Given the description of an element on the screen output the (x, y) to click on. 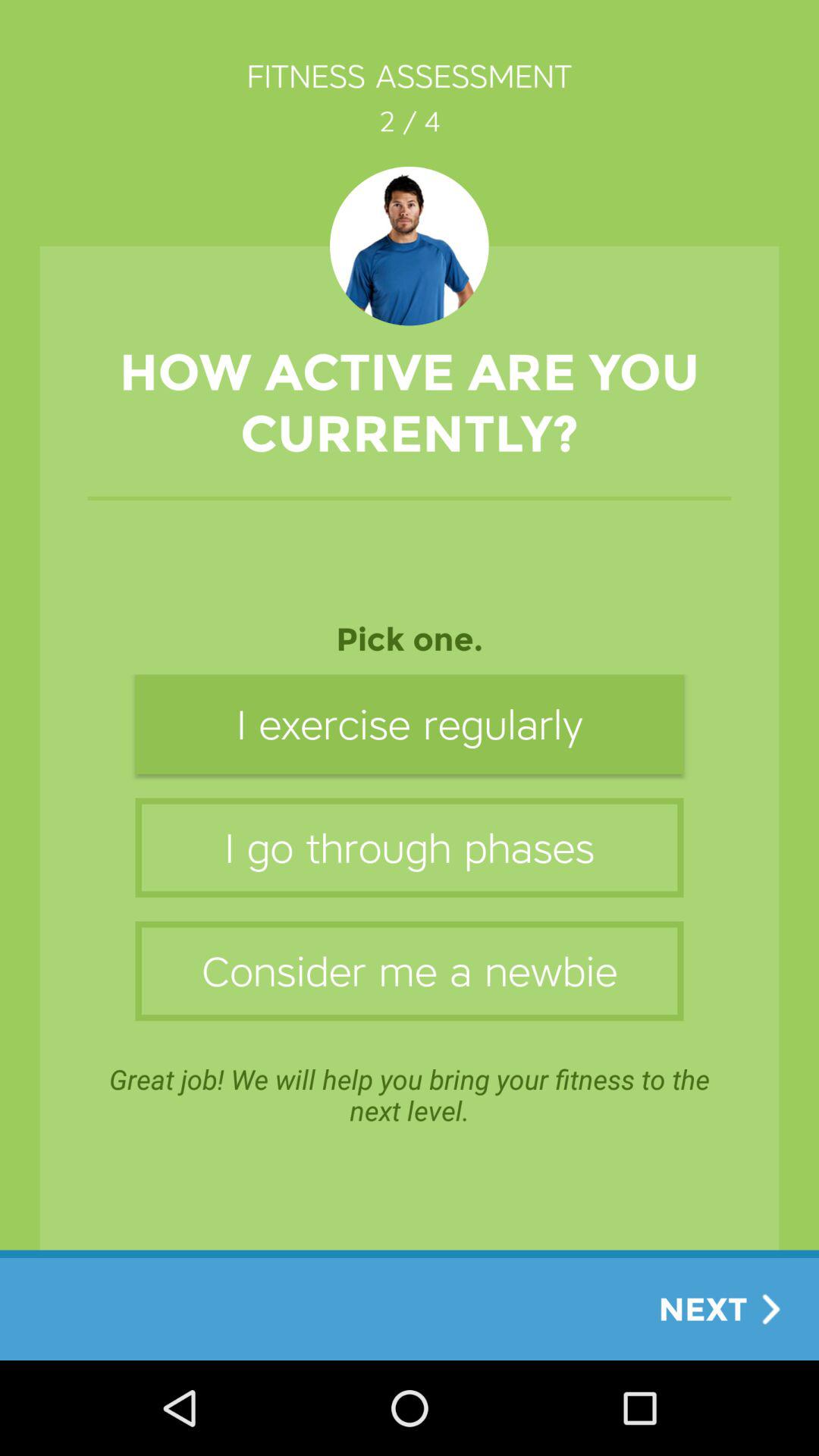
turn off the item above i go through icon (409, 724)
